Given the description of an element on the screen output the (x, y) to click on. 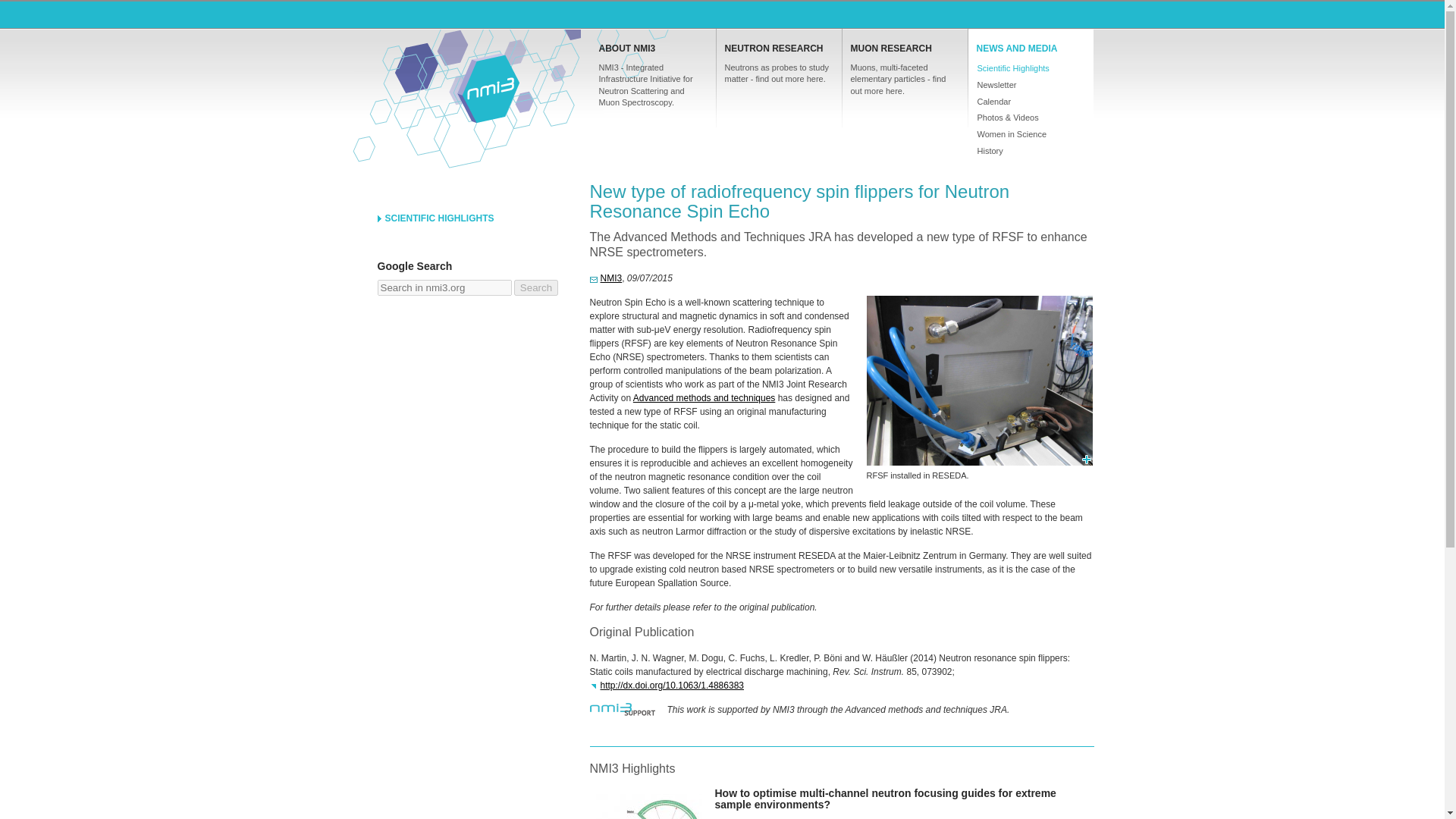
Search (535, 287)
NMI3 support (622, 711)
SCIENTIFIC HIGHLIGHTS (472, 217)
Home (487, 87)
Home (487, 87)
NMI3 (606, 277)
IN5 (645, 803)
